Given the description of an element on the screen output the (x, y) to click on. 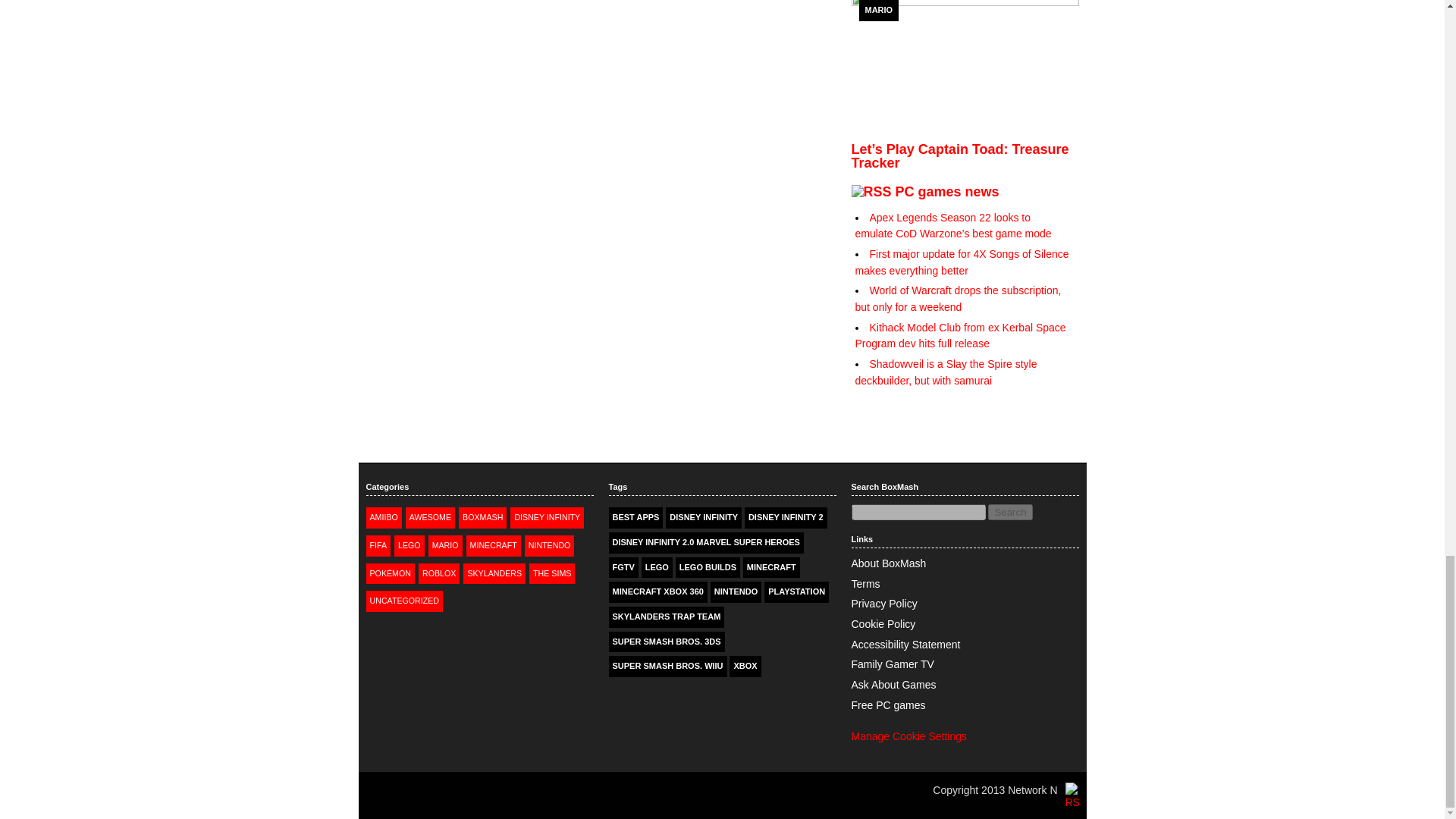
Search (1010, 512)
